Given the description of an element on the screen output the (x, y) to click on. 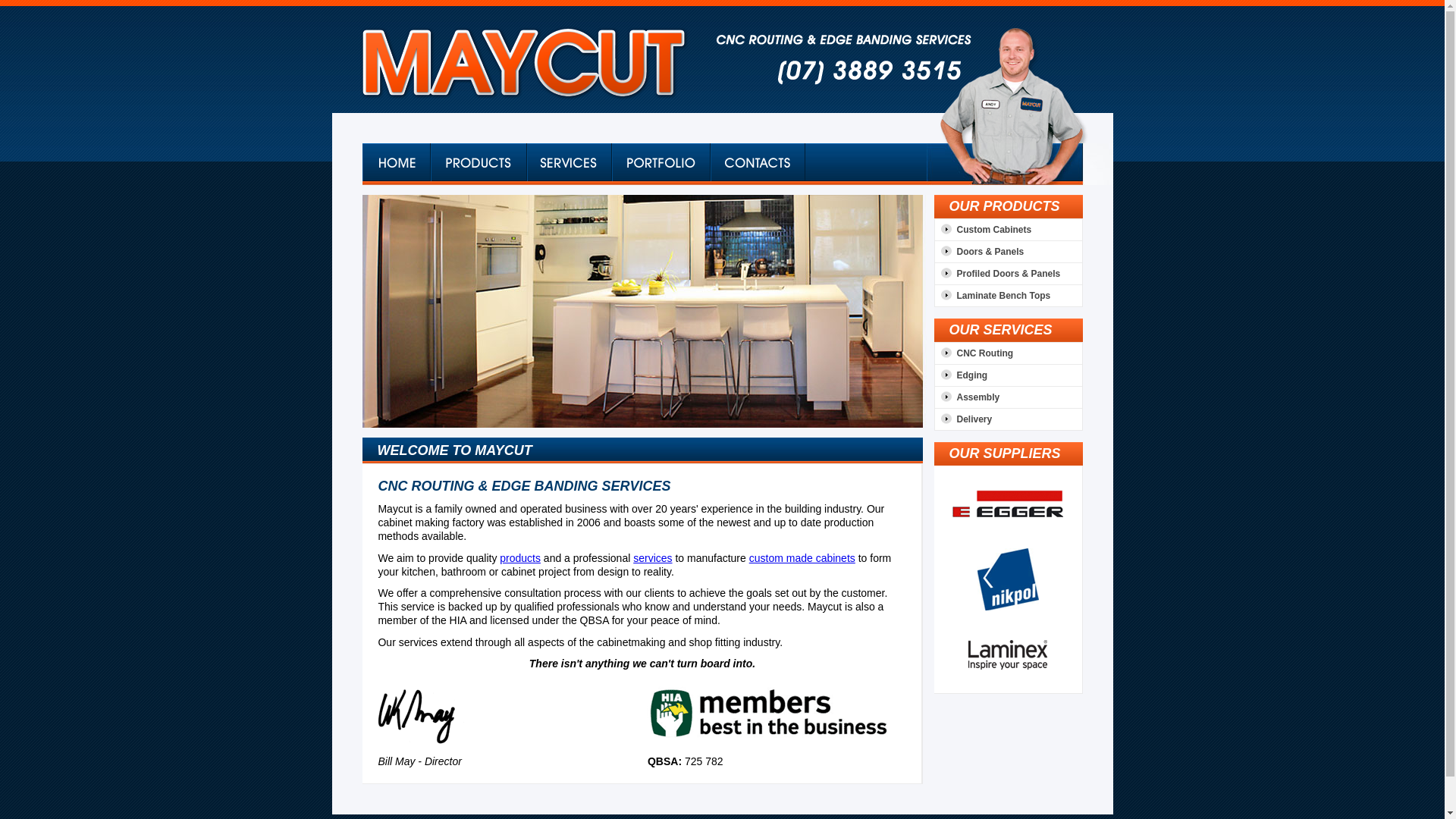
custom made cabinets Element type: text (802, 558)
products Element type: text (519, 558)
HIA Member Element type: hover (767, 713)
OUR SERVICES Element type: text (1000, 329)
CNC Routing Element type: text (973, 352)
Assembly Element type: text (967, 396)
Delivery Element type: text (963, 419)
Laminate Bench Tops Element type: text (992, 294)
Edging Element type: text (961, 375)
Profiled Doors & Panels Element type: text (997, 273)
services Element type: text (652, 558)
Custom Cabinets Element type: text (983, 229)
Doors & Panels Element type: text (979, 250)
Bill May Signature Element type: hover (421, 710)
OUR PRODUCTS Element type: text (1004, 205)
